Given the description of an element on the screen output the (x, y) to click on. 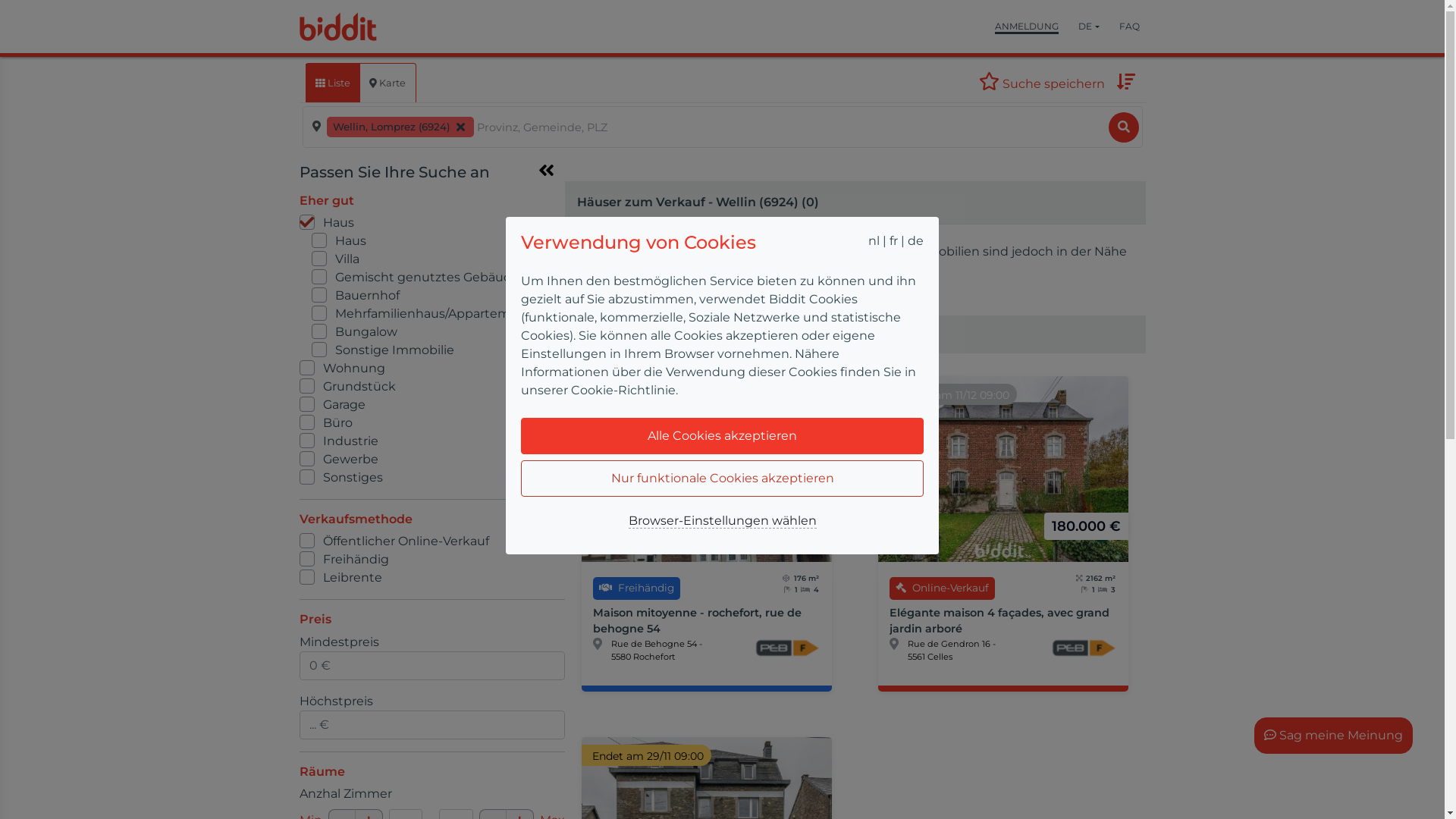
Sag meine Meinung Element type: text (1333, 735)
 Suche speichern Element type: text (1040, 82)
ANMELDUNG Element type: text (1026, 26)
Alle Cookies akzeptieren Element type: text (722, 435)
Nur funktionale Cookies akzeptieren Element type: text (722, 478)
de Element type: text (915, 240)
nl Element type: text (873, 240)
fr Element type: text (893, 240)
DE Element type: text (1088, 26)
FAQ Element type: text (1129, 26)
